Given the description of an element on the screen output the (x, y) to click on. 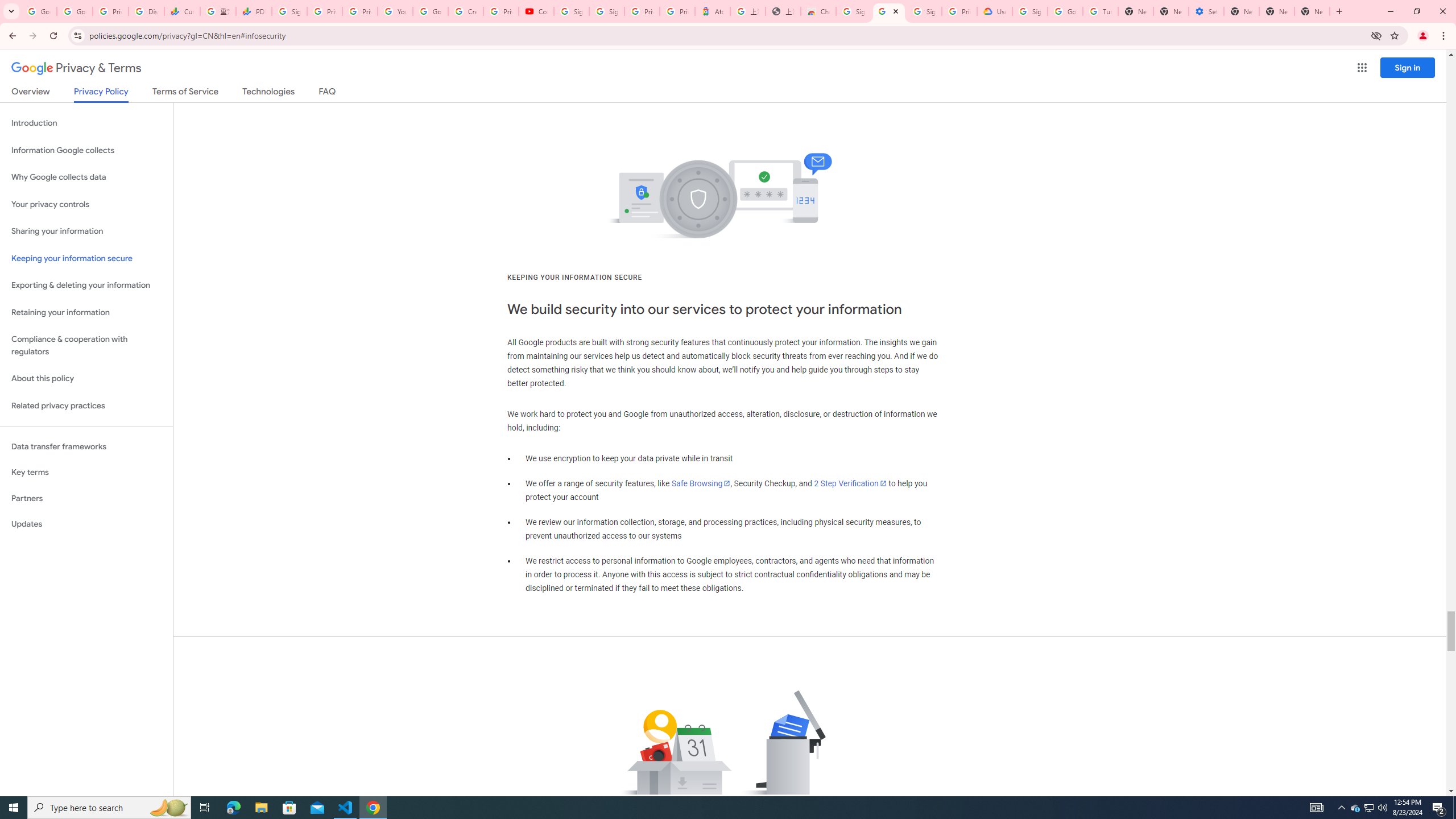
Retaining your information (86, 312)
Sign in - Google Accounts (288, 11)
Sign in - Google Accounts (1029, 11)
Settings - System (1205, 11)
About this policy (86, 379)
Turn cookies on or off - Computer - Google Account Help (1099, 11)
Create your Google Account (465, 11)
